Given the description of an element on the screen output the (x, y) to click on. 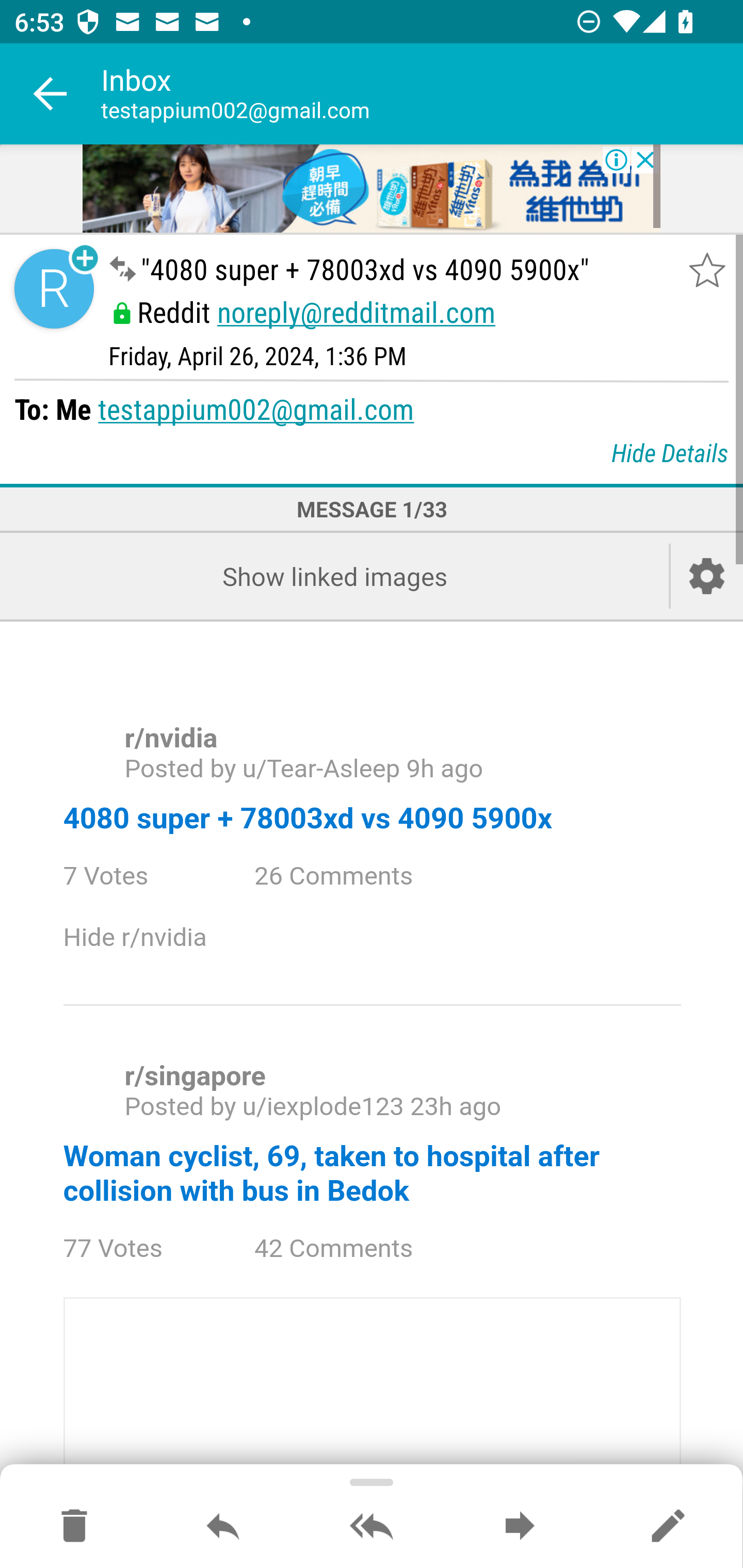
Navigate up (50, 93)
Inbox testappium002@gmail.com (422, 93)
Sender contact button (53, 289)
Show linked images (334, 576)
Account setup (706, 576)
Move to Deleted (74, 1527)
Reply (222, 1527)
Reply all (371, 1527)
Forward (519, 1527)
Reply as new (667, 1527)
